Given the description of an element on the screen output the (x, y) to click on. 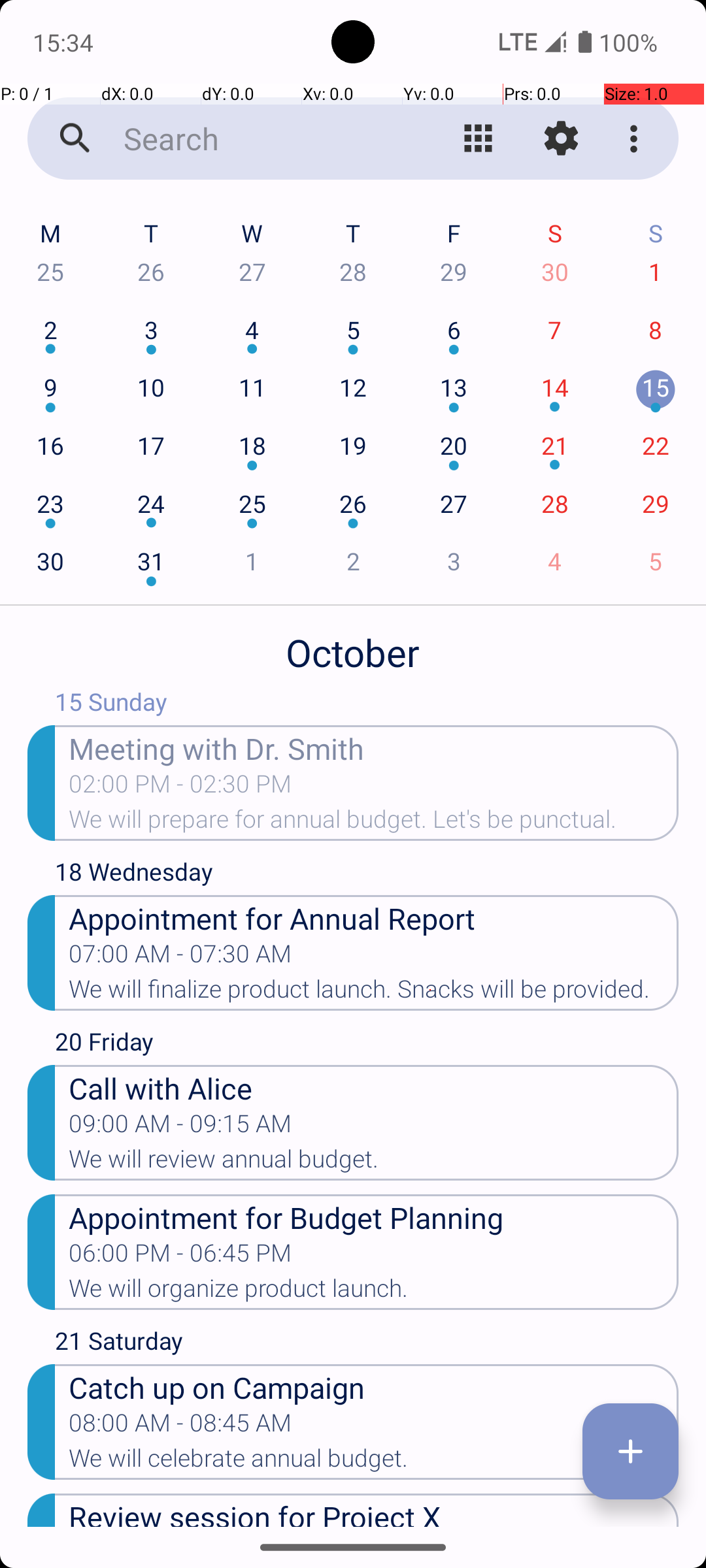
21 Saturday Element type: android.widget.TextView (366, 1343)
02:00 PM - 02:30 PM Element type: android.widget.TextView (179, 787)
We will prepare for annual budget. Let's be punctual. Element type: android.widget.TextView (373, 822)
07:00 AM - 07:30 AM Element type: android.widget.TextView (179, 957)
We will finalize product launch. Snacks will be provided. Element type: android.widget.TextView (373, 992)
09:00 AM - 09:15 AM Element type: android.widget.TextView (179, 1127)
We will review annual budget. Element type: android.widget.TextView (373, 1162)
06:00 PM - 06:45 PM Element type: android.widget.TextView (179, 1256)
We will organize product launch. Element type: android.widget.TextView (373, 1291)
08:00 AM - 08:45 AM Element type: android.widget.TextView (179, 1426)
We will celebrate annual budget. Element type: android.widget.TextView (373, 1461)
